Given the description of an element on the screen output the (x, y) to click on. 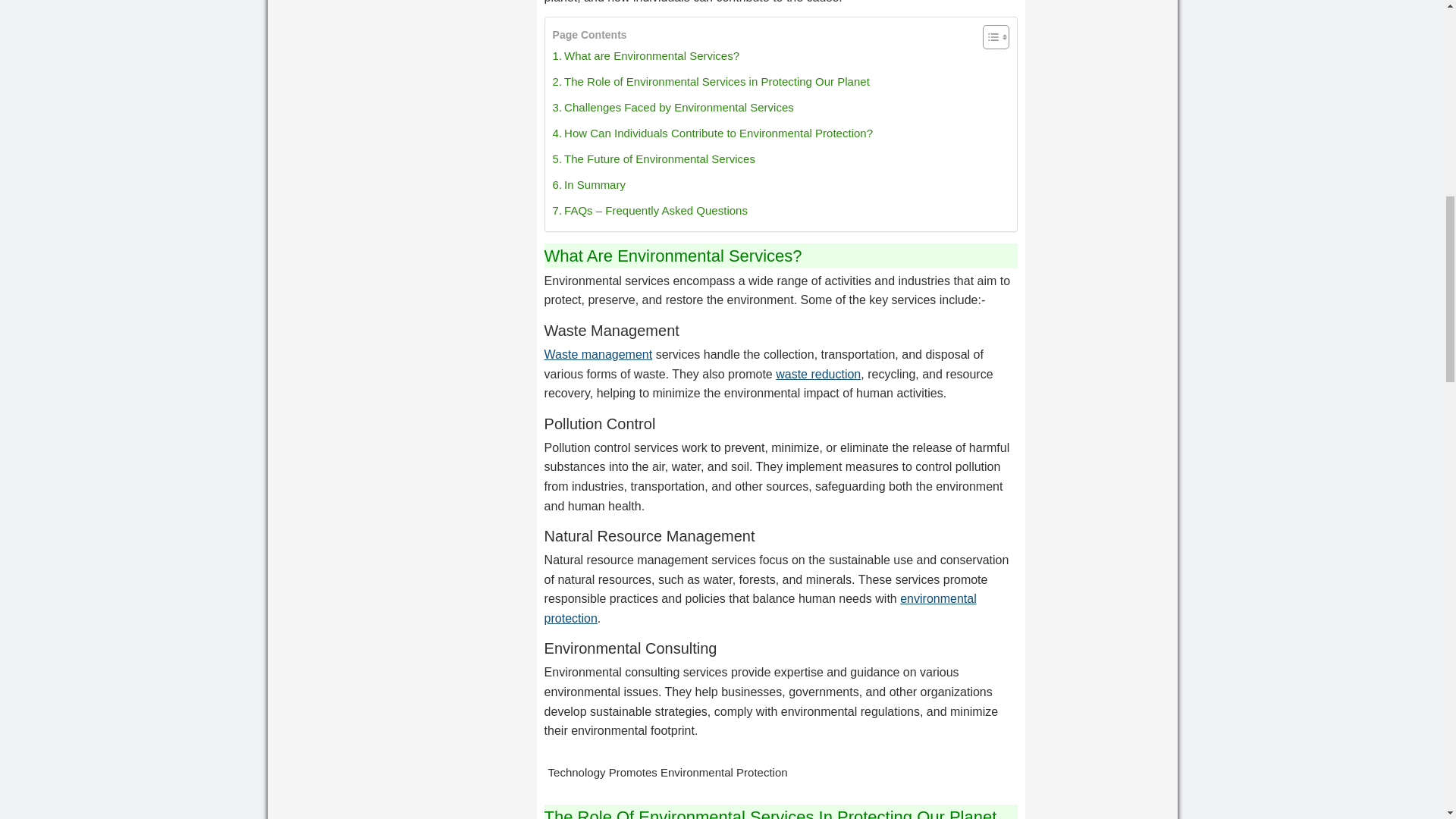
Waste management (598, 354)
waste reduction (818, 373)
Challenges Faced by Environmental Services (673, 107)
The Future of Environmental Services (654, 158)
Challenges Faced by Environmental Services (673, 107)
How Can Individuals Contribute to Environmental Protection? (712, 133)
The Role of Environmental Services in Protecting Our Planet (711, 81)
What are Environmental Services? (646, 55)
The Role of Environmental Services in Protecting Our Planet (711, 81)
In Summary (589, 184)
